Given the description of an element on the screen output the (x, y) to click on. 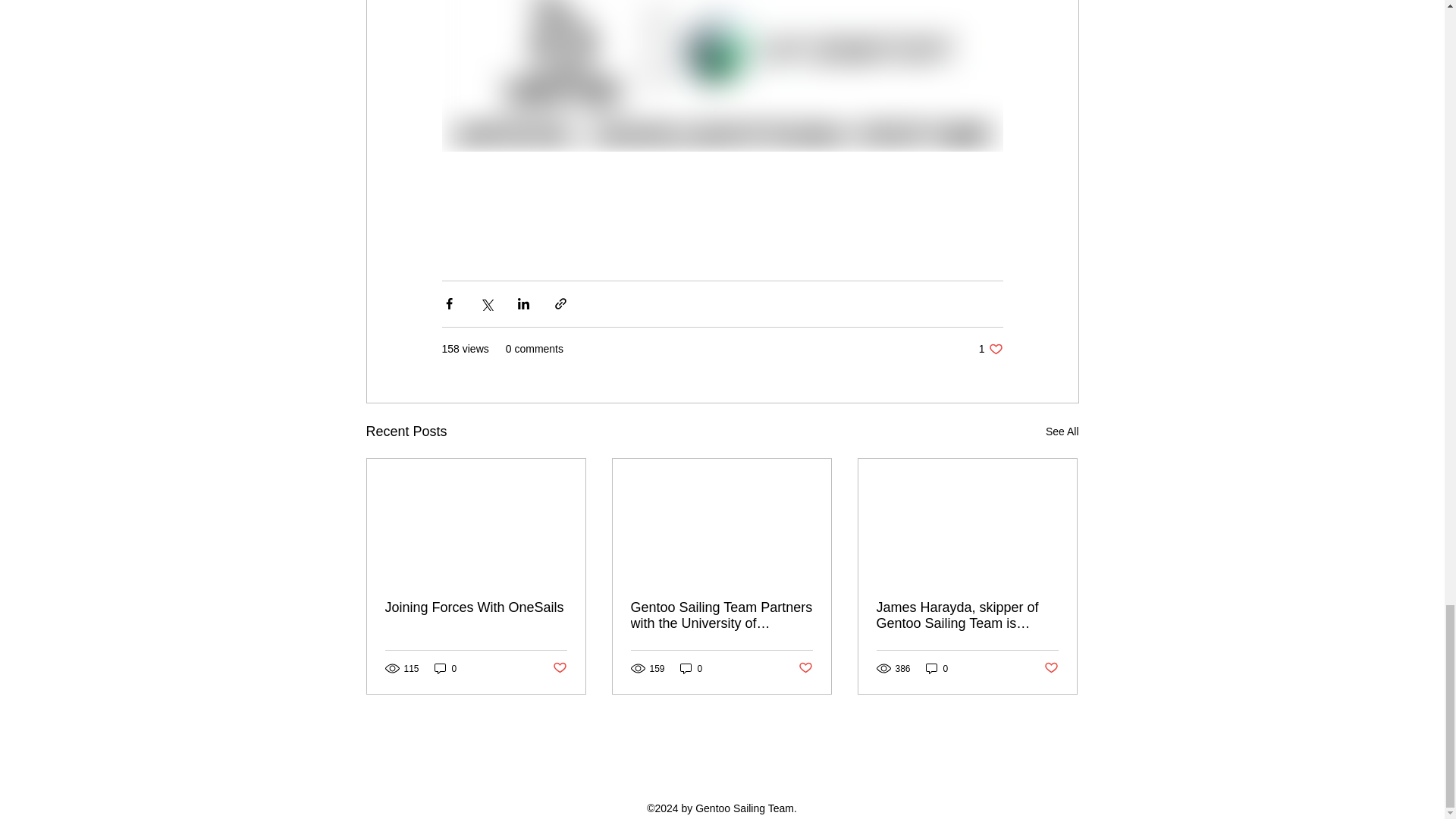
See All (1061, 431)
Post not marked as liked (558, 668)
Post not marked as liked (804, 668)
Post not marked as liked (1050, 668)
0 (691, 667)
Joining Forces With OneSails (476, 607)
0 (937, 667)
0 (445, 667)
